Given the description of an element on the screen output the (x, y) to click on. 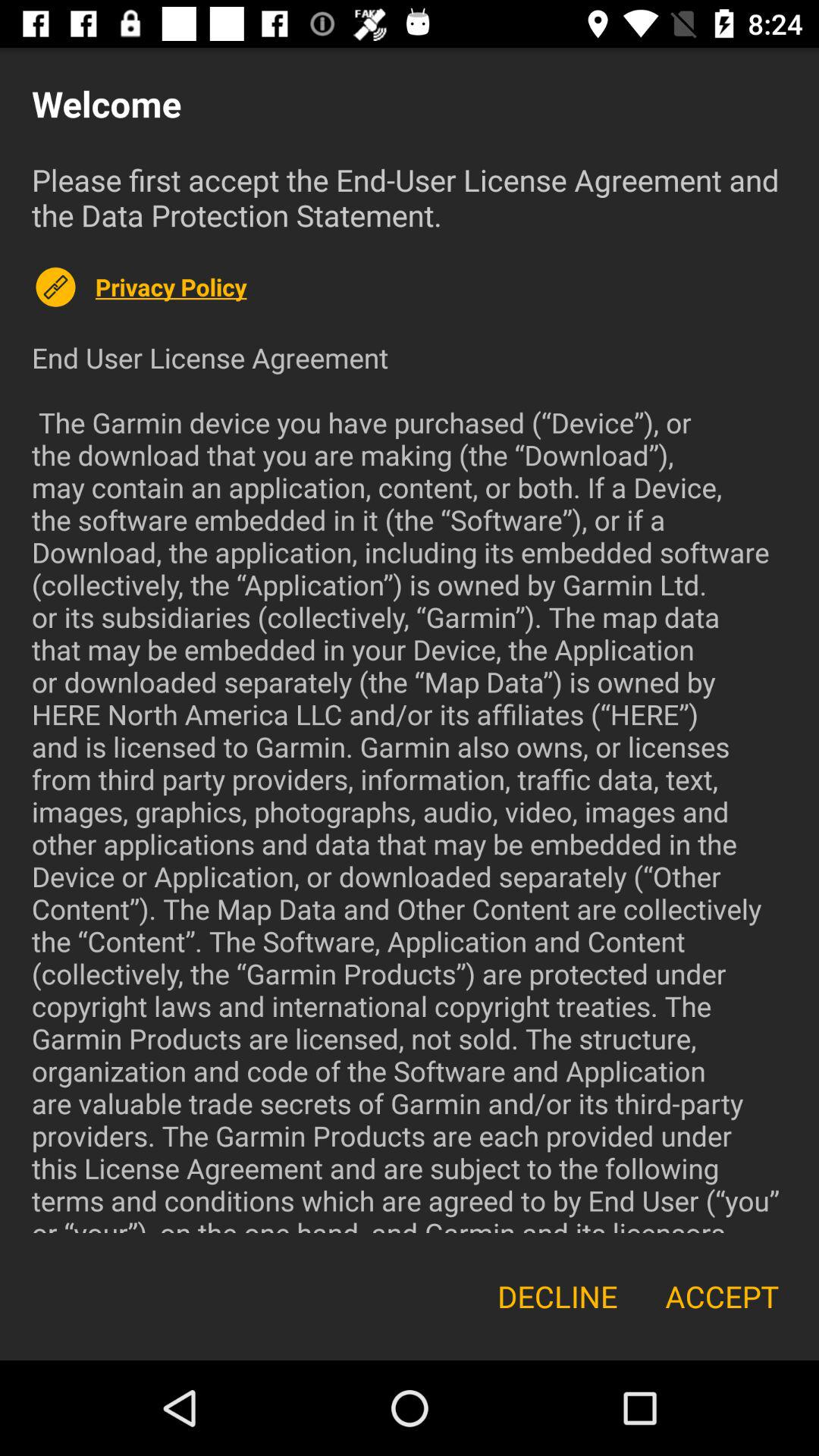
select icon to the left of accept (557, 1296)
